Given the description of an element on the screen output the (x, y) to click on. 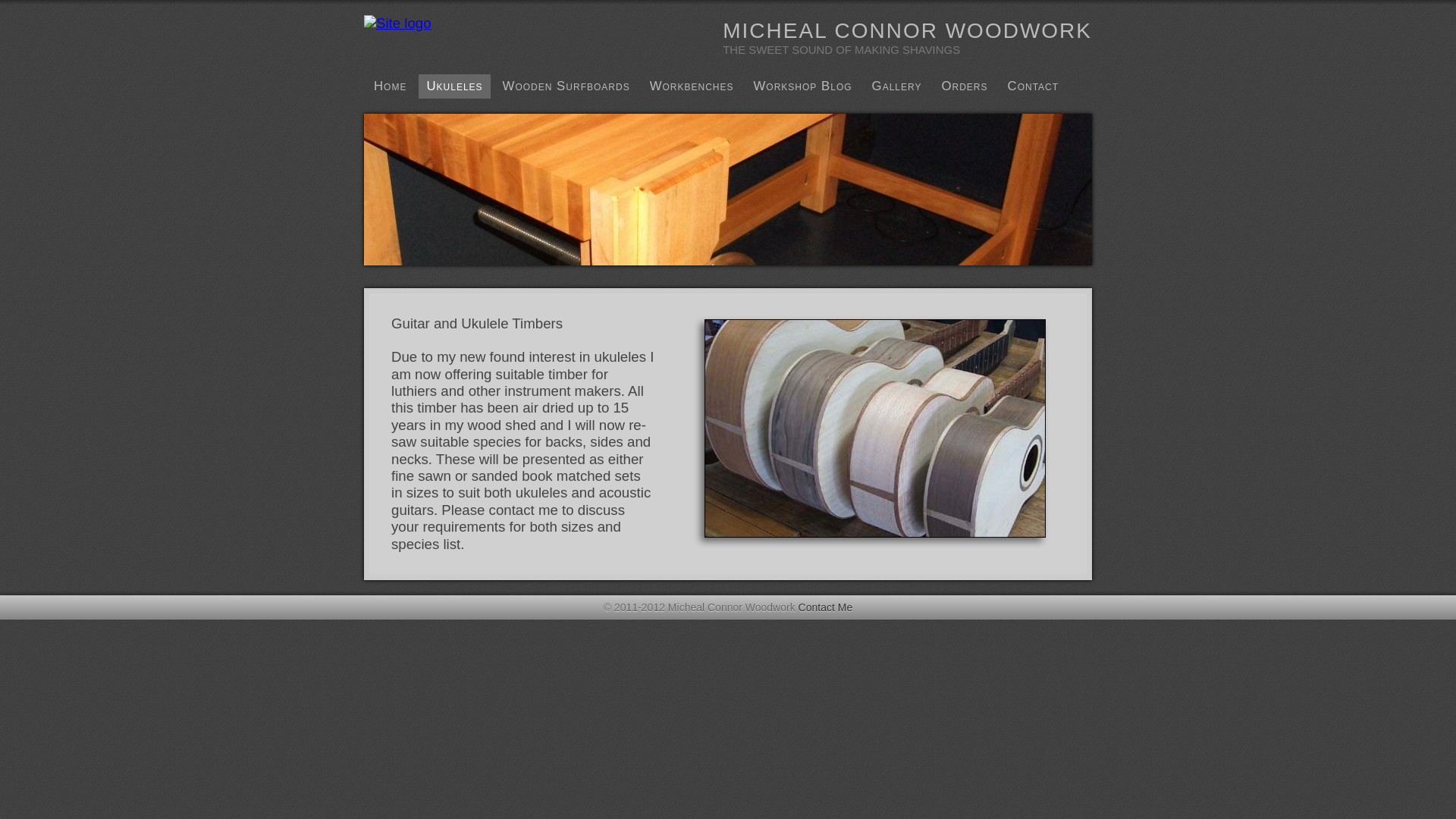
Workshop Blog Element type: text (802, 86)
Ukuleles Element type: text (453, 86)
Gallery Element type: text (896, 86)
Orders Element type: text (963, 86)
Workbenches Element type: text (691, 86)
Contact Element type: text (1033, 86)
Wooden Surfboards Element type: text (566, 86)
Home Element type: text (390, 86)
Contact Me Element type: text (825, 607)
